Given the description of an element on the screen output the (x, y) to click on. 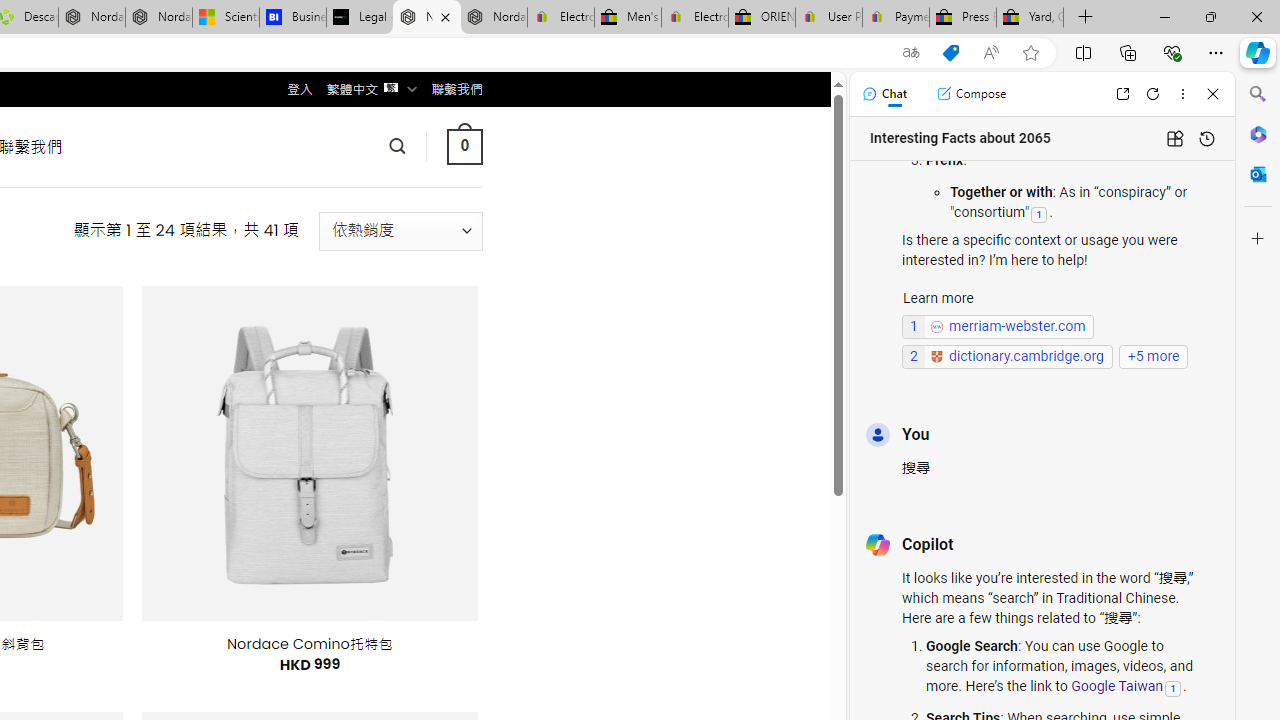
Press Room - eBay Inc. (962, 17)
Payments Terms of Use | eBay.com (895, 17)
